Given the description of an element on the screen output the (x, y) to click on. 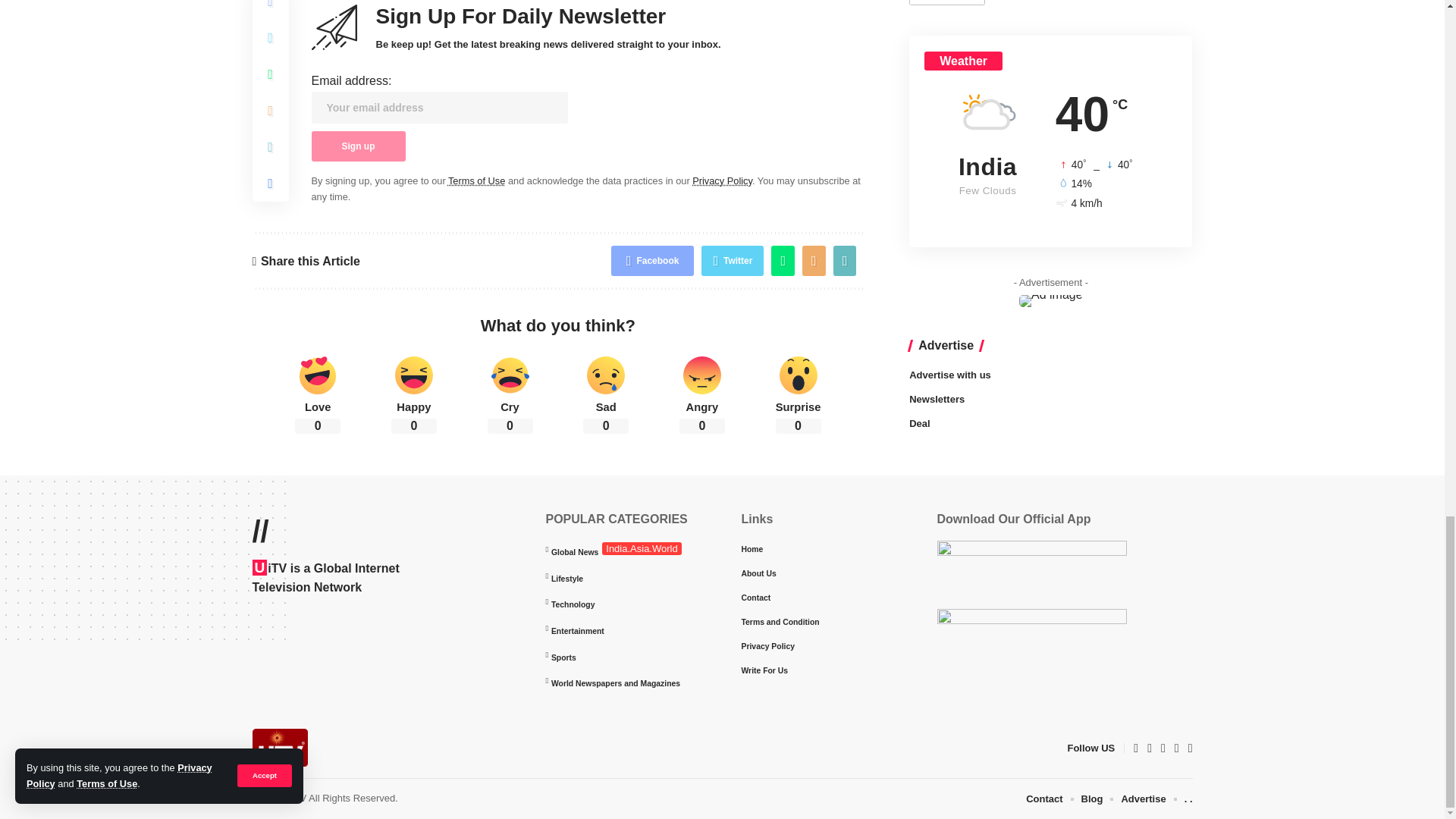
Sign up (357, 146)
